Given the description of an element on the screen output the (x, y) to click on. 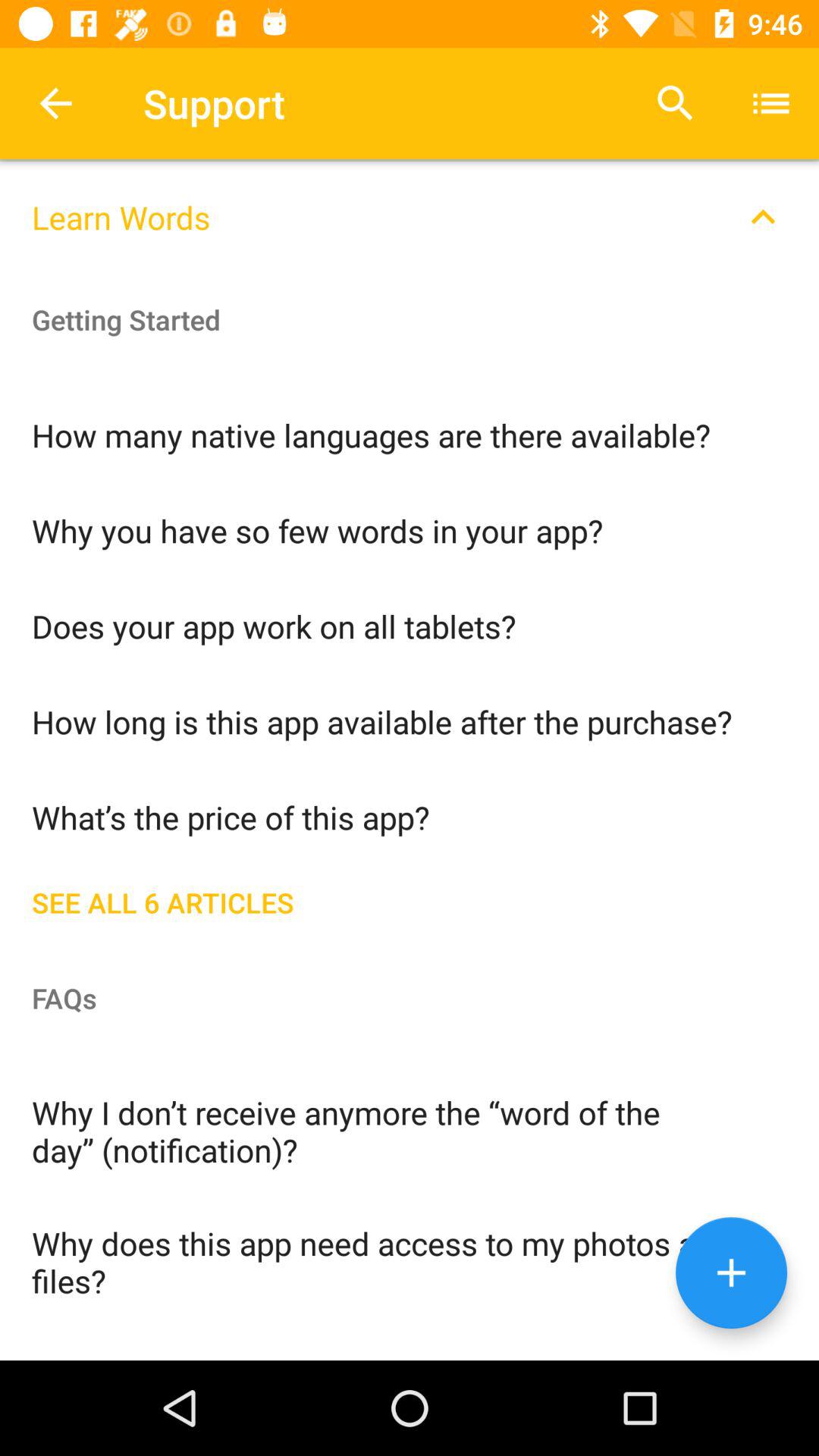
click item above the getting started item (409, 208)
